Given the description of an element on the screen output the (x, y) to click on. 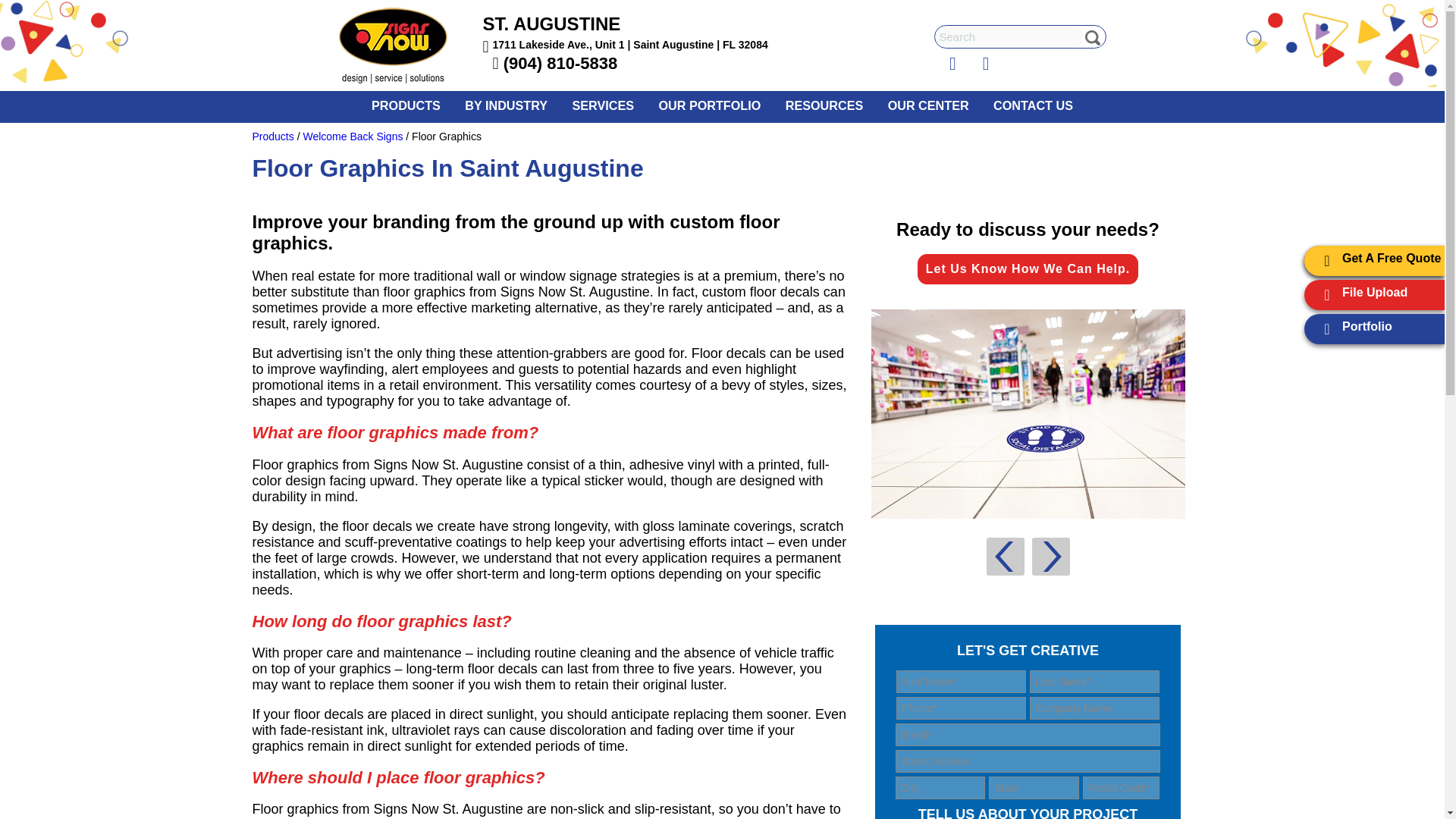
PRODUCTS (405, 104)
BY INDUSTRY (505, 104)
Signs Now (402, 46)
OUR PORTFOLIO (709, 104)
Page Right (1049, 556)
Page Left (1004, 556)
Let us know how we can help. (1027, 268)
Products (272, 136)
SERVICES (602, 104)
Welcome Back Signs (352, 136)
OUR CENTER (927, 104)
RESOURCES (824, 104)
CONTACT US (1032, 104)
Floor Graphics in Saint Augustine (1027, 413)
